Given the description of an element on the screen output the (x, y) to click on. 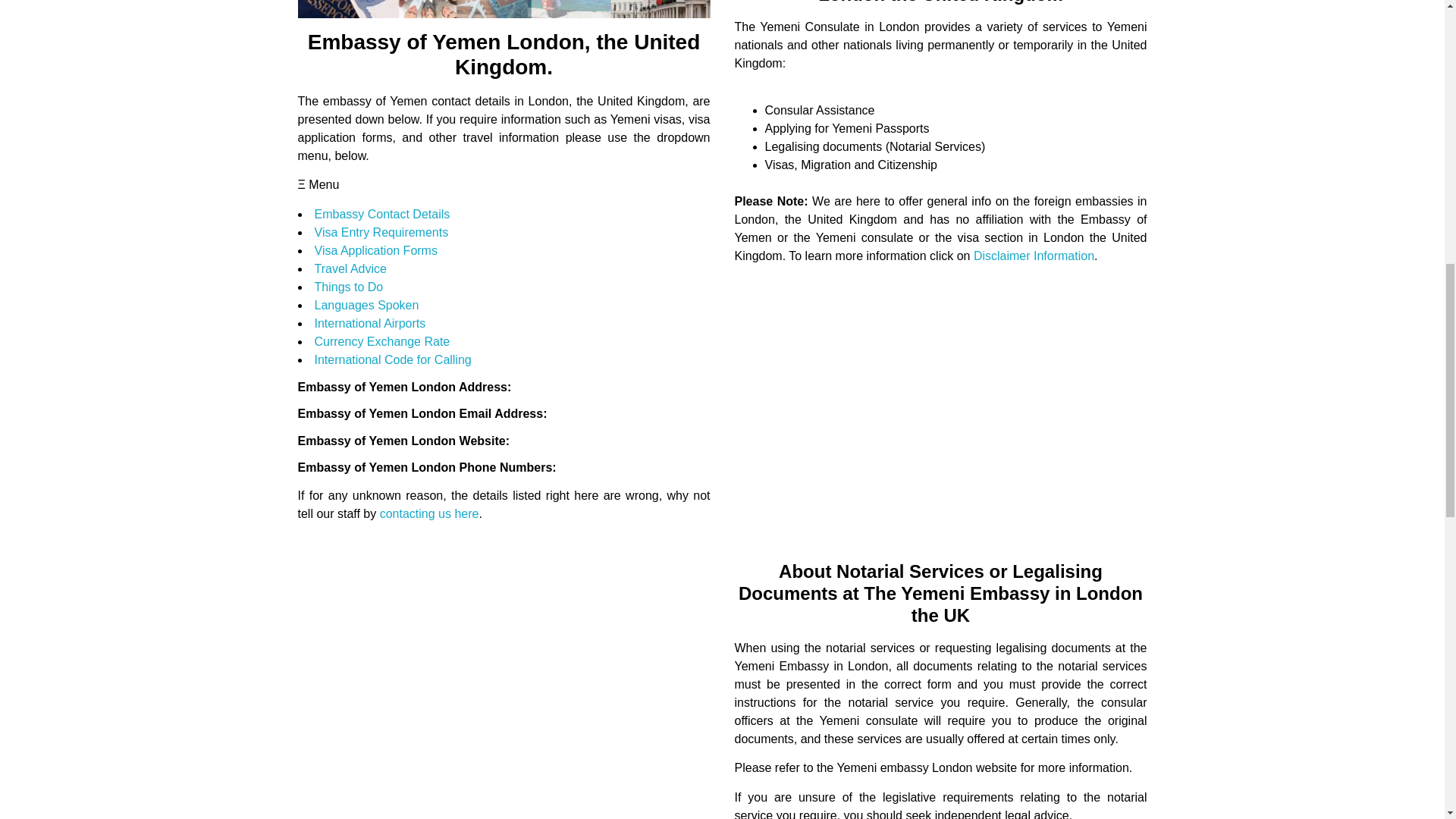
Things to Do (348, 286)
Currency Exchange Rate (381, 341)
International Airports (369, 323)
Disclaimer Information (1034, 255)
contacting us here (429, 513)
Embassy Contact Details (381, 214)
Visa Entry Requirements (381, 232)
Languages Spoken (366, 305)
Travel Advice (349, 268)
International Code for Calling (392, 359)
